Given the description of an element on the screen output the (x, y) to click on. 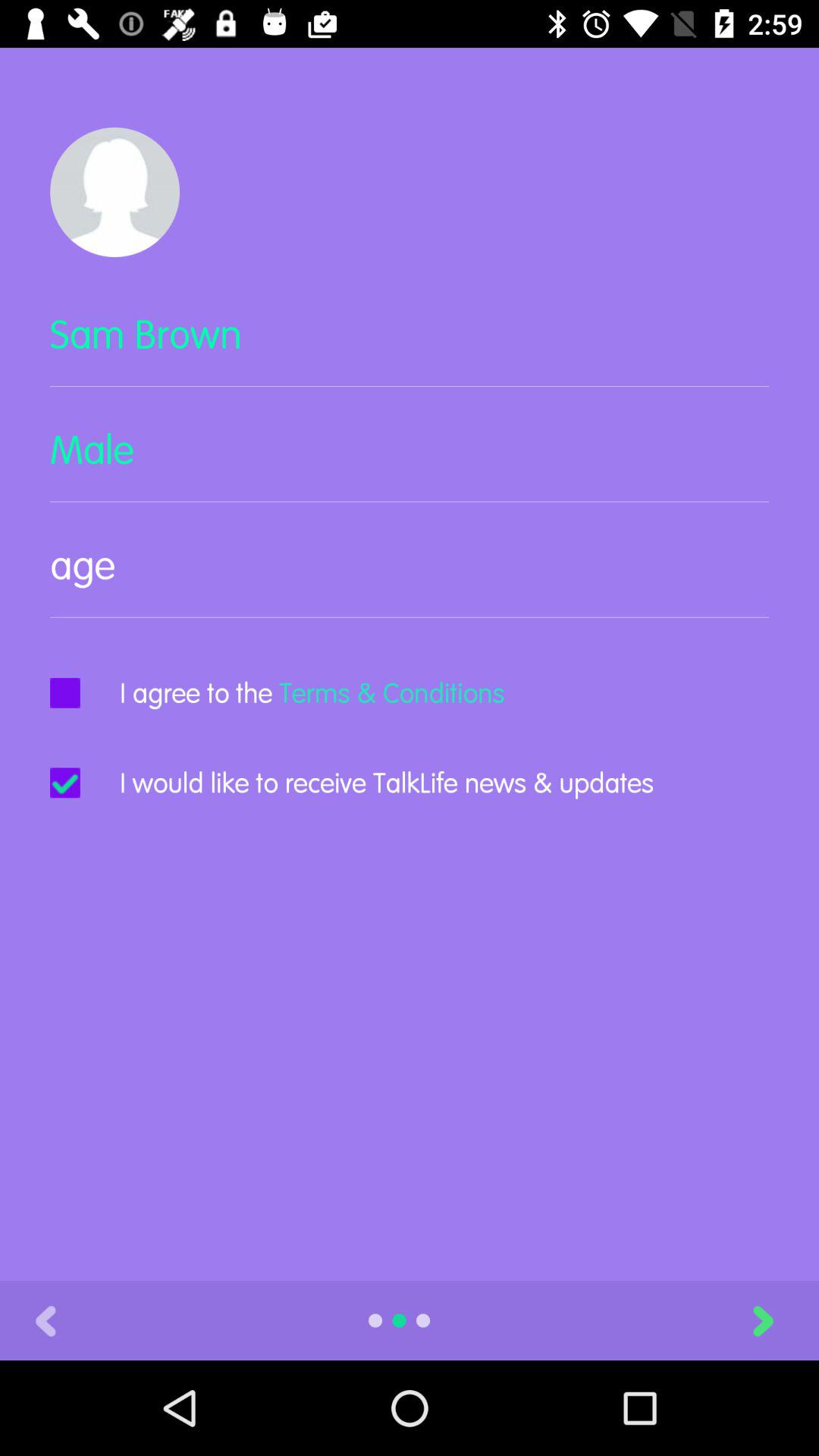
what 's your age (409, 577)
